Given the description of an element on the screen output the (x, y) to click on. 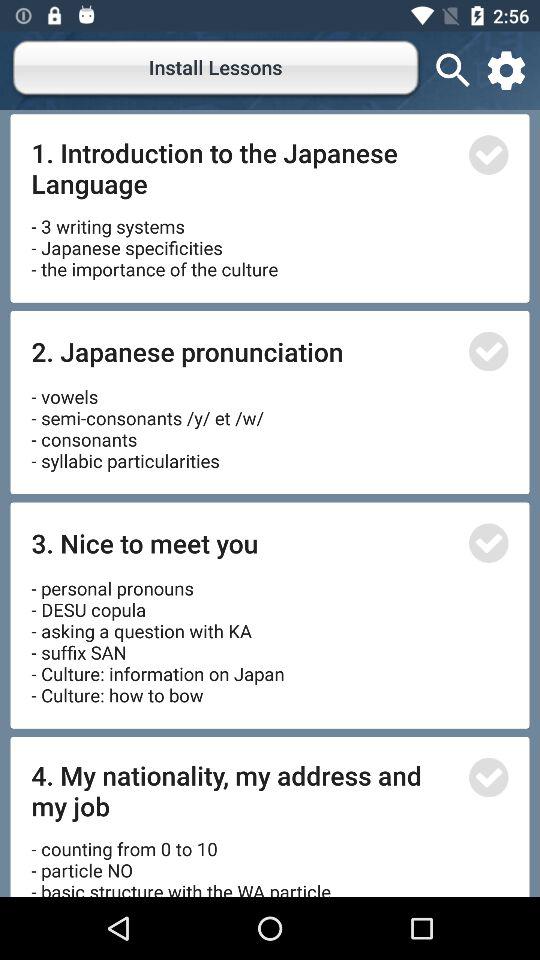
select mark on the following lesson tick for select (488, 777)
